Given the description of an element on the screen output the (x, y) to click on. 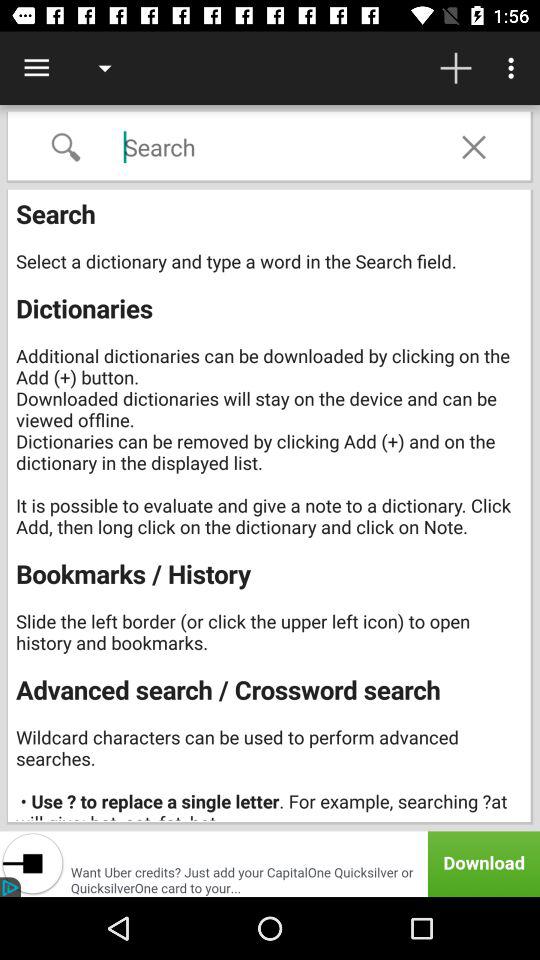
click search select a item (271, 507)
